Given the description of an element on the screen output the (x, y) to click on. 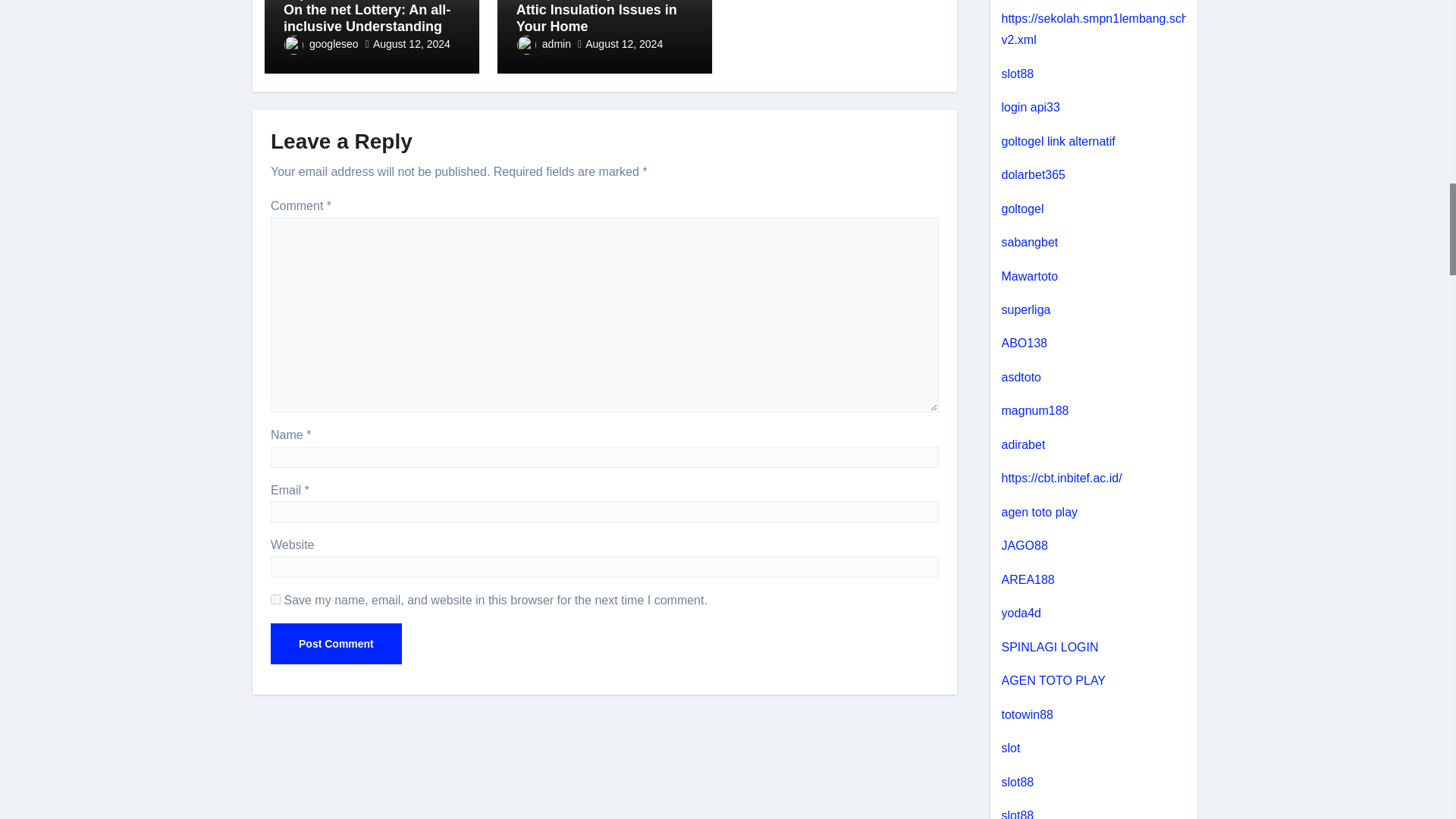
Post Comment (335, 643)
yes (275, 599)
